Given the description of an element on the screen output the (x, y) to click on. 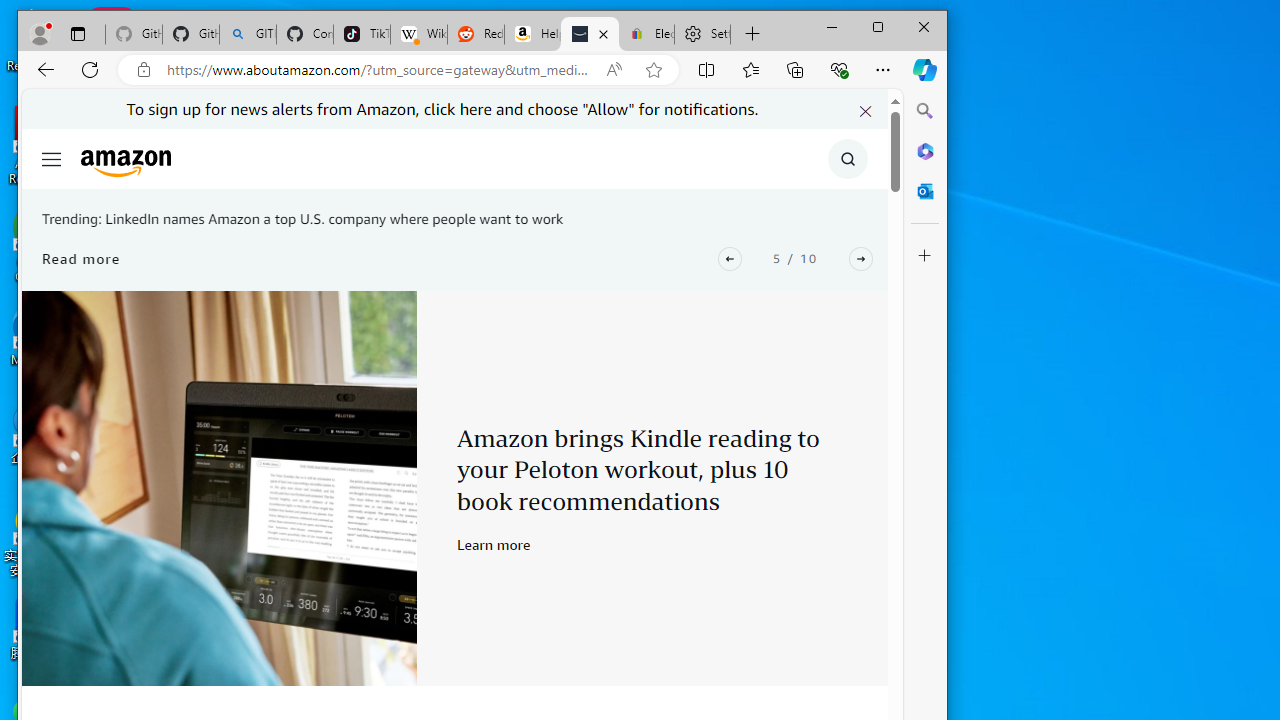
Menu (50, 158)
Wikipedia, the free encyclopedia (418, 34)
Help & Contact Us - Amazon Customer Service (532, 34)
About Amazon (589, 34)
GITHUB - Search (248, 34)
